Given the description of an element on the screen output the (x, y) to click on. 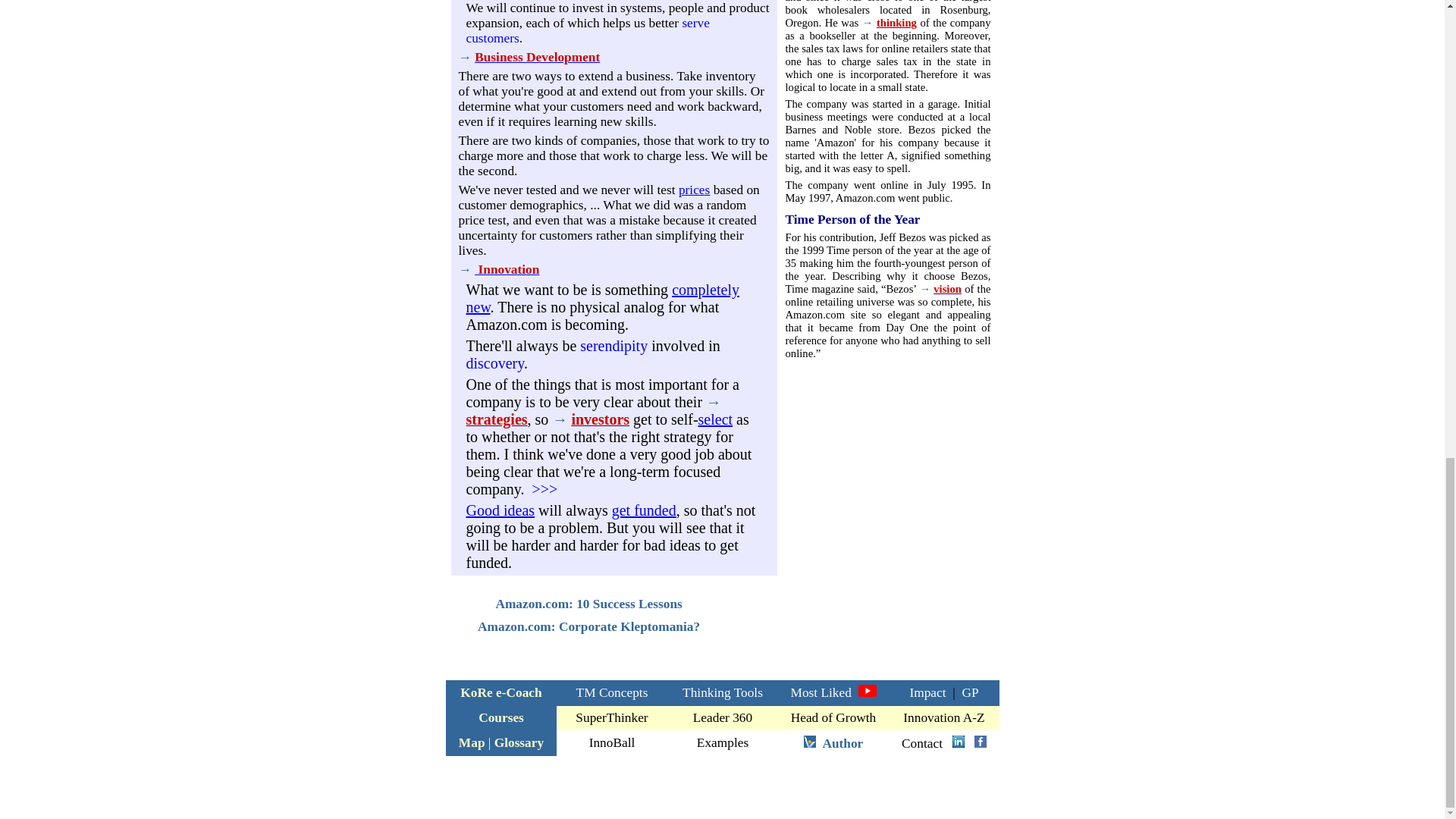
Competitive Strategies (496, 420)
Radical Innovation (601, 298)
serve customers (587, 30)
Venture Investing (559, 420)
3Ws of Venture Investing (599, 420)
Investment Selection Criteria (715, 419)
Innovation Is Love (464, 269)
Pricing (694, 189)
get funded (644, 510)
investors (599, 420)
